Given the description of an element on the screen output the (x, y) to click on. 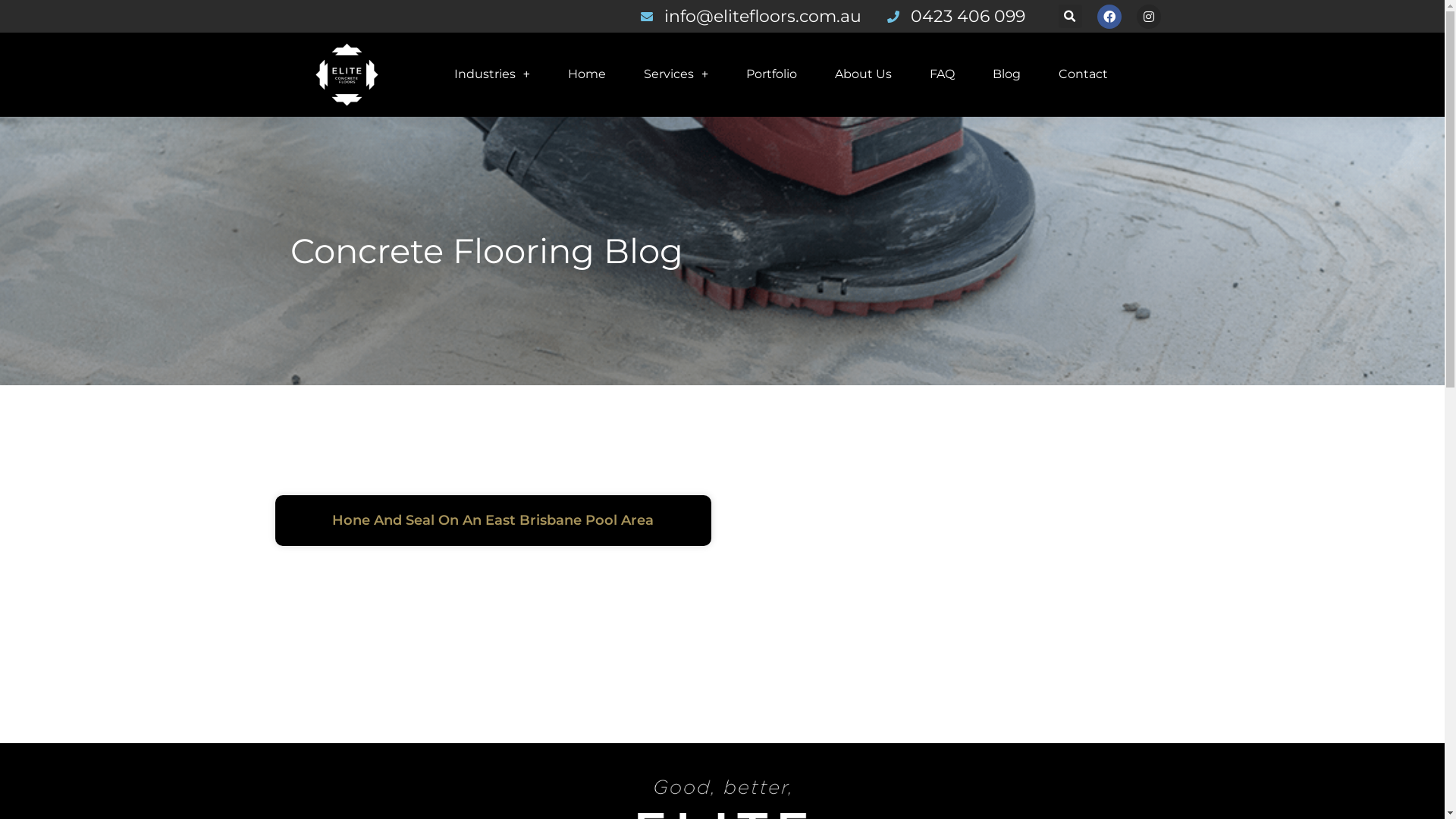
Blog Element type: text (1006, 73)
Services Element type: text (675, 73)
Portfolio Element type: text (771, 73)
Hone And Seal On An East Brisbane Pool Area Element type: text (492, 519)
Industries Element type: text (492, 73)
info@elitefloors.com.au Element type: text (748, 15)
Contact Element type: text (1082, 73)
FAQ Element type: text (941, 73)
Home Element type: text (586, 73)
0423 406 099 Element type: text (954, 15)
About Us Element type: text (862, 73)
